Given the description of an element on the screen output the (x, y) to click on. 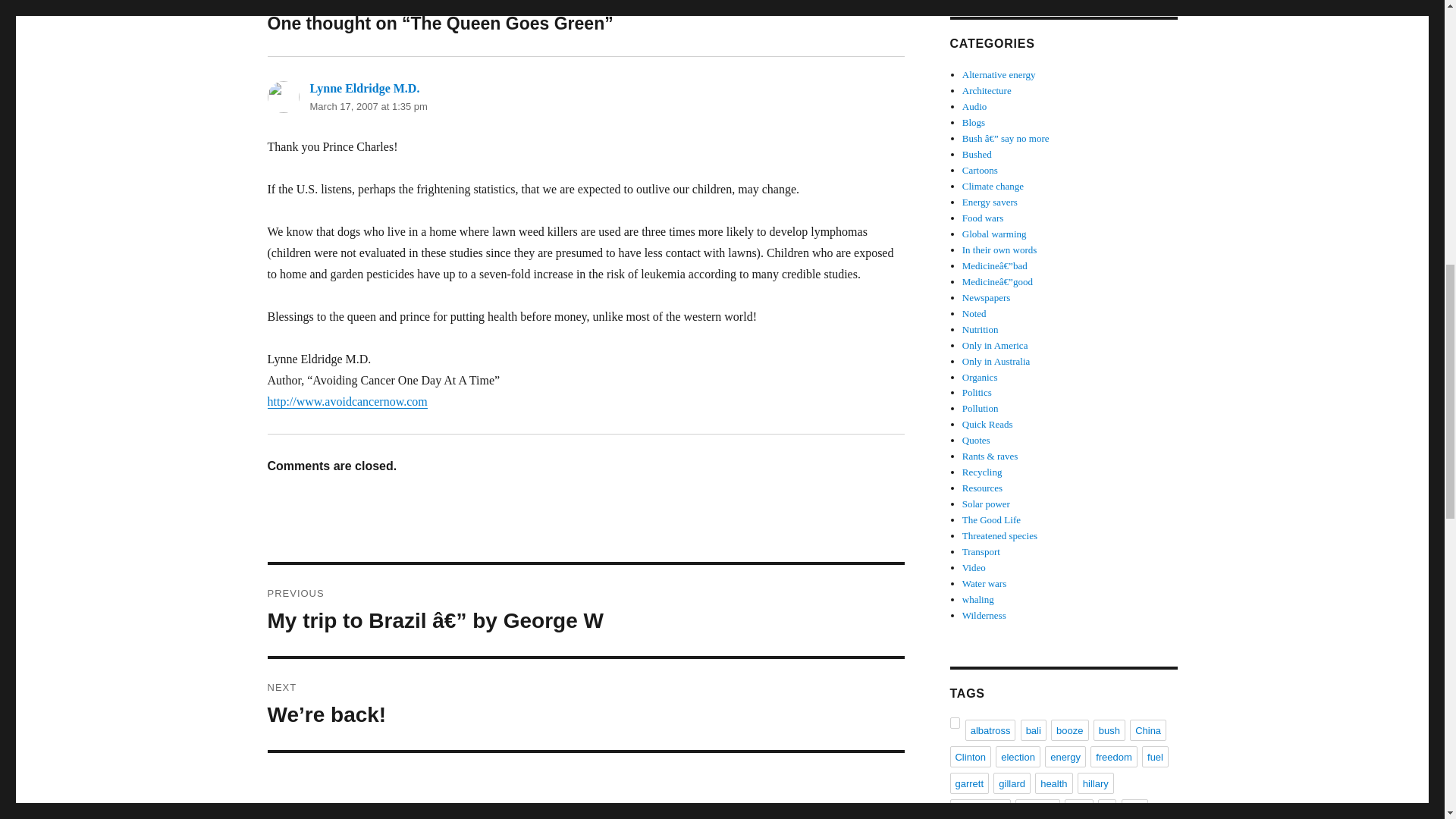
Audio (974, 106)
Food wars (983, 217)
Nutrition (980, 328)
Only in America (994, 345)
Lynne Eldridge M.D. (363, 88)
Alternative energy (998, 74)
Architecture (986, 90)
Blogs (973, 122)
Global warming (994, 233)
Newspapers (986, 297)
Climate change (992, 185)
Noted (974, 313)
Only in Australia (996, 360)
Bushed (976, 153)
Energy savers (989, 202)
